Given the description of an element on the screen output the (x, y) to click on. 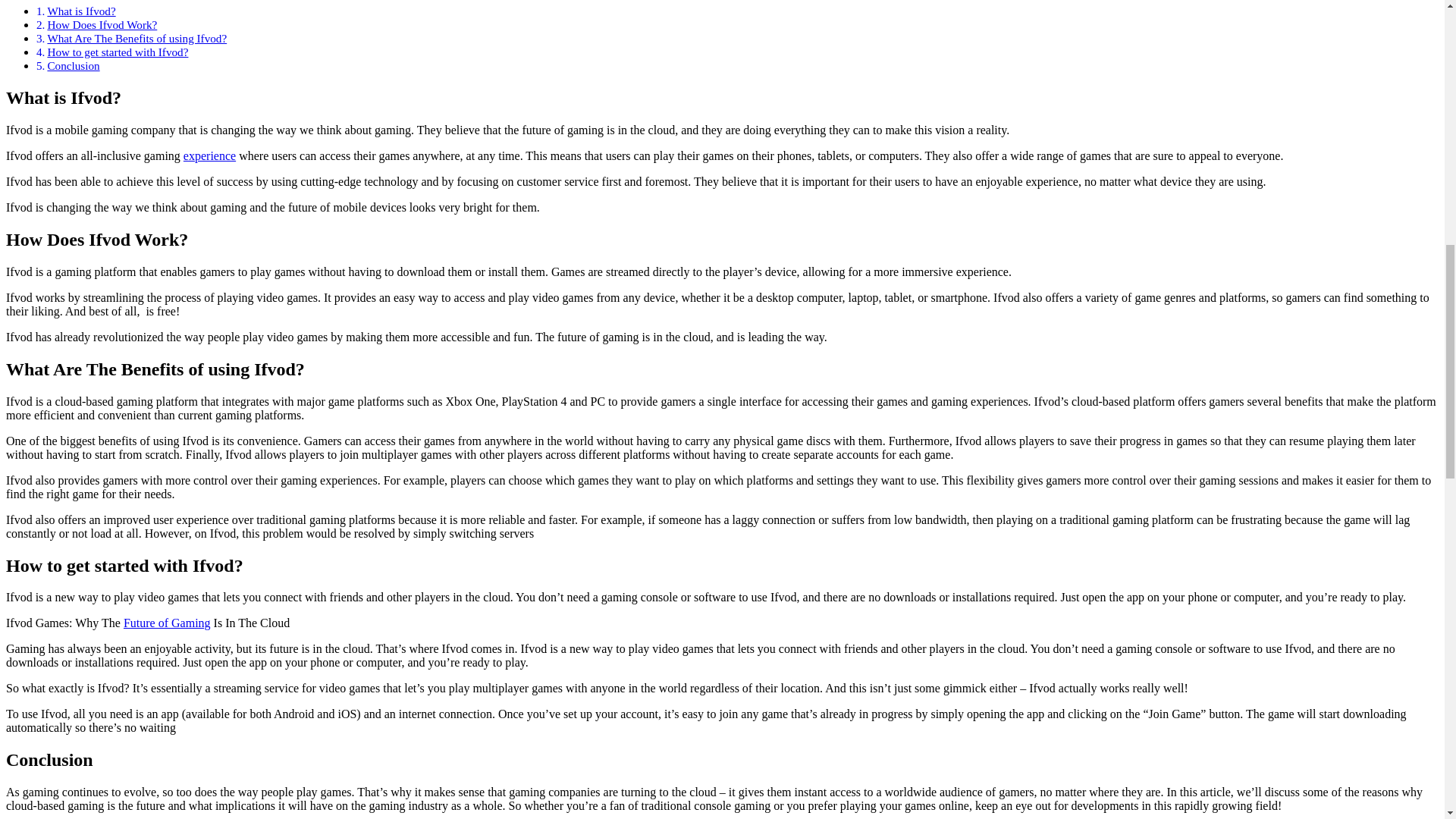
Conclusion (72, 65)
How Does Ifvod Work? (101, 24)
What Are The Benefits of using Ifvod? (136, 38)
What is Ifvod? (80, 10)
How to get started with Ifvod? (116, 51)
How Does Ifvod Work? (101, 24)
Conclusion (72, 65)
Future of Gaming (167, 622)
What is Ifvod? (80, 10)
experience (209, 155)
